Given the description of an element on the screen output the (x, y) to click on. 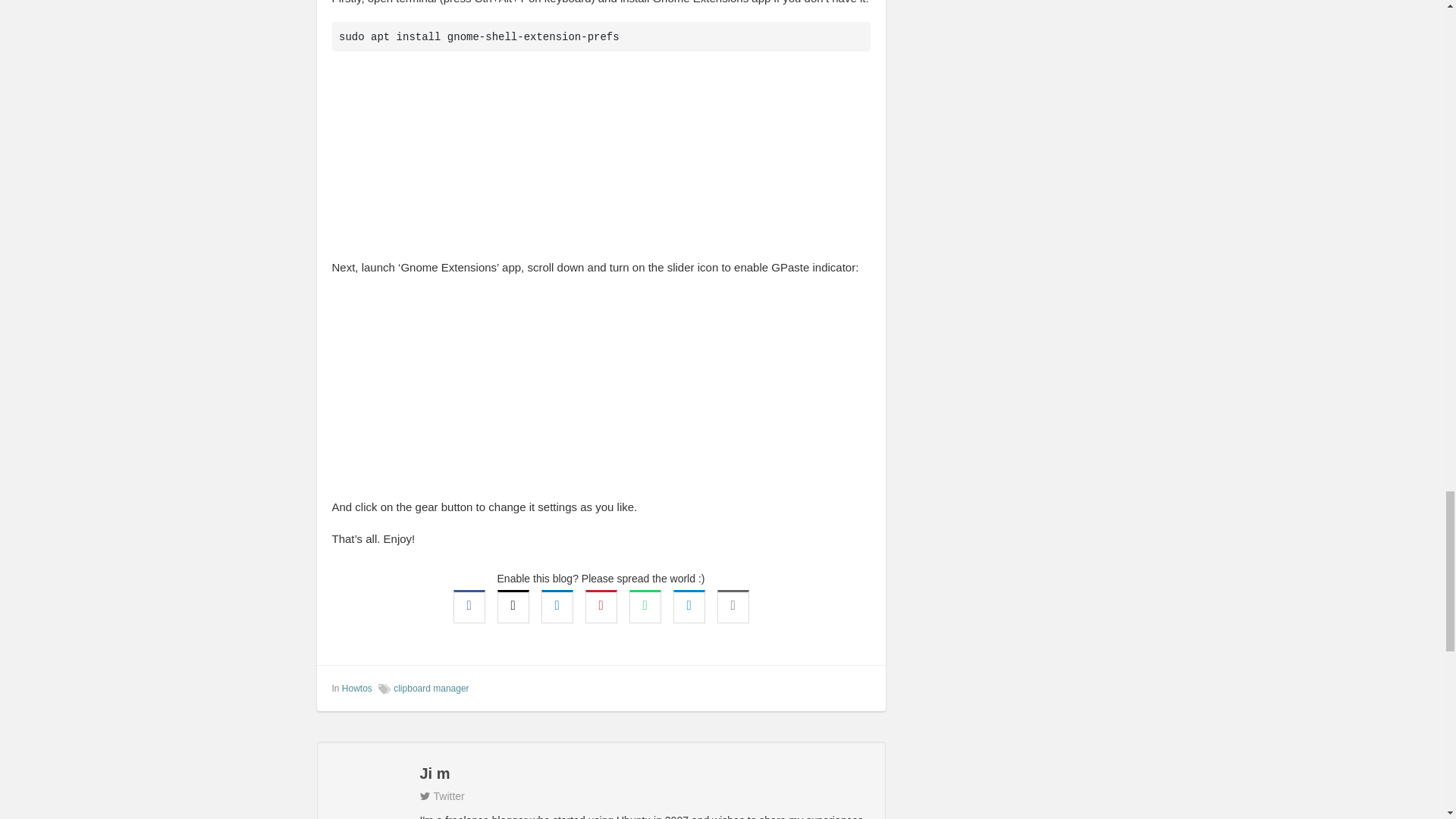
Howtos (357, 688)
Twitter (442, 796)
permalink (860, 687)
clipboard manager (430, 688)
Twitter (442, 796)
Ji m (600, 773)
